Given the description of an element on the screen output the (x, y) to click on. 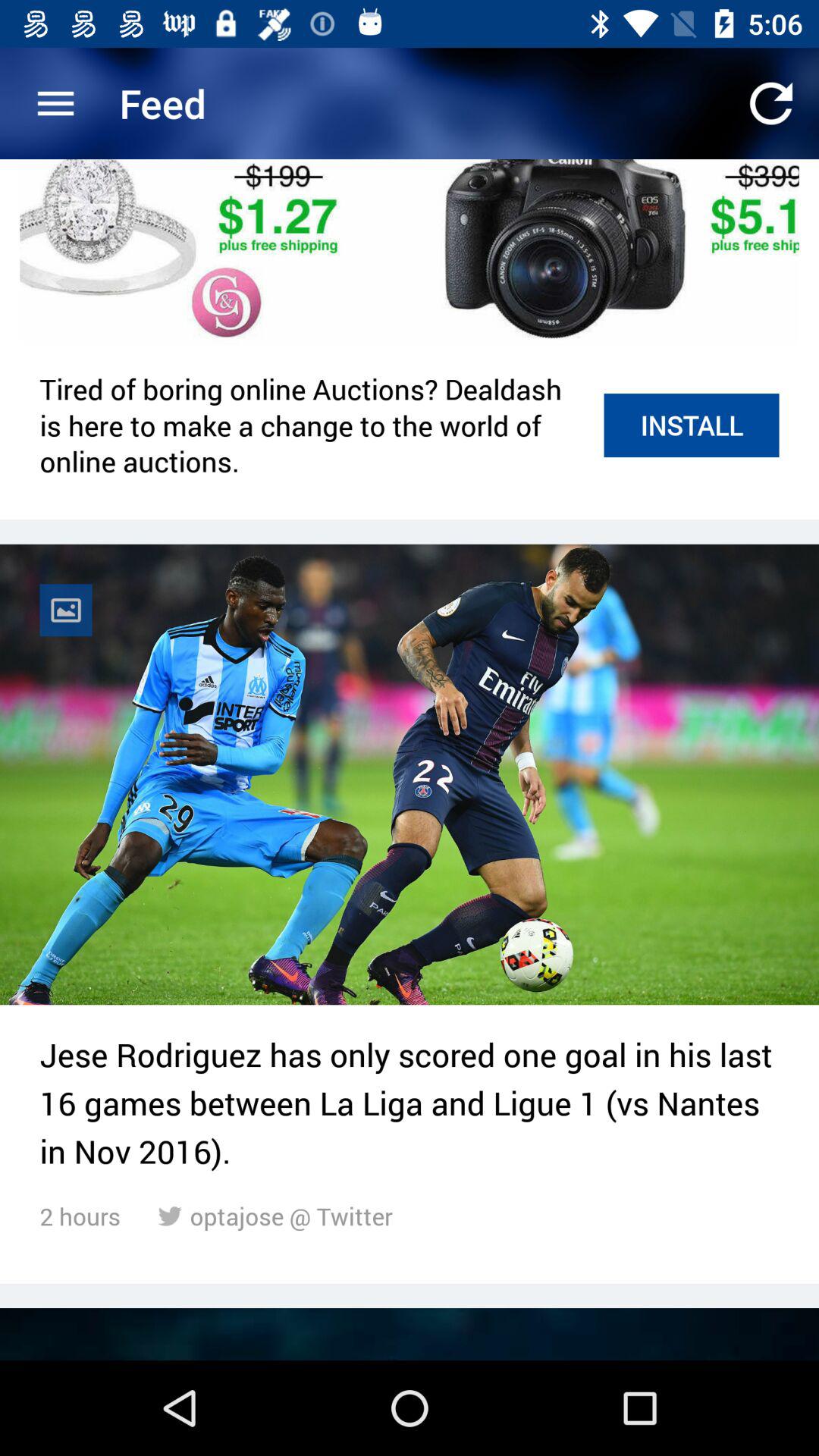
flip until tired of boring item (313, 425)
